Given the description of an element on the screen output the (x, y) to click on. 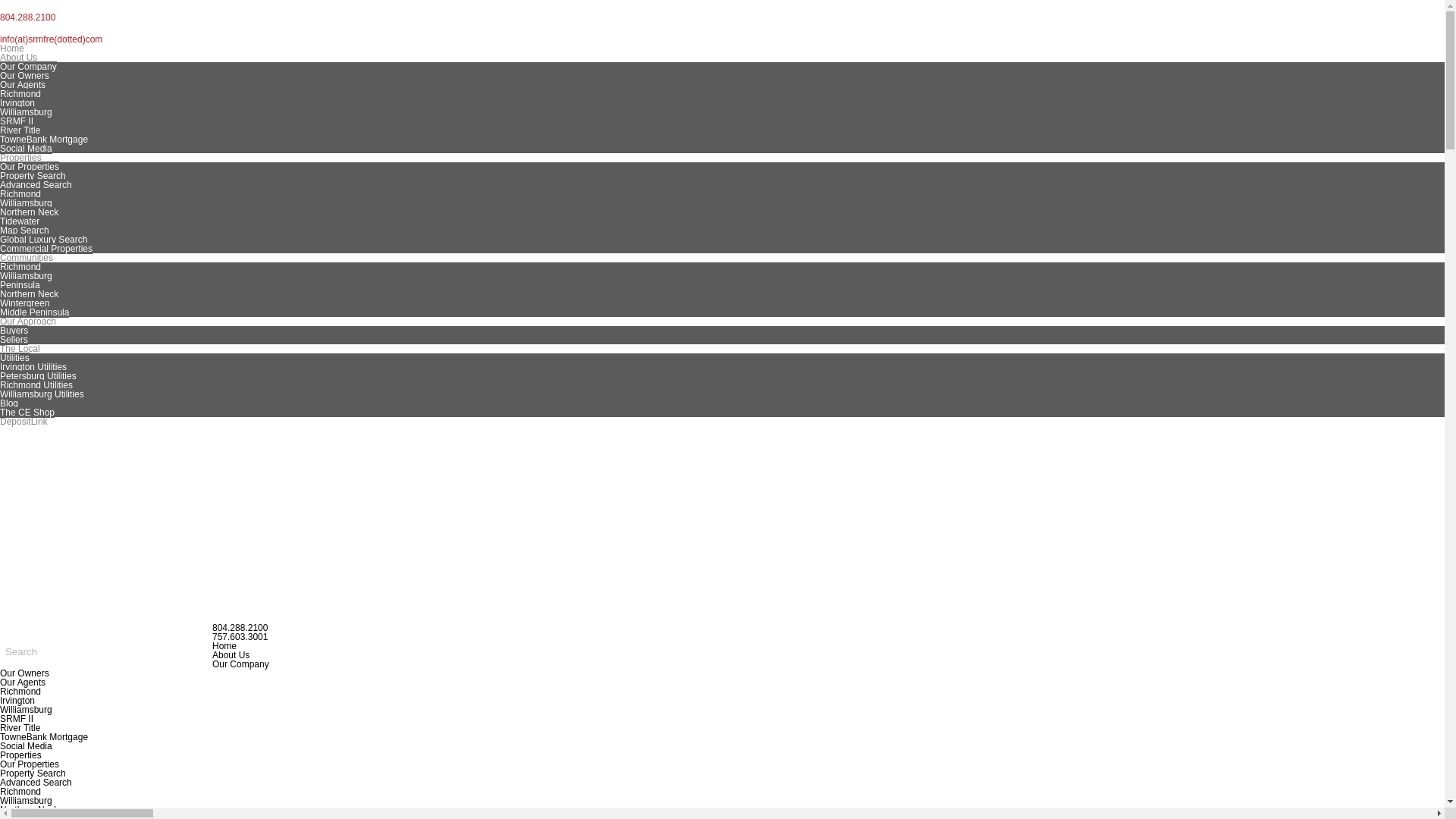
804.288.2100 (722, 17)
River Title (20, 130)
Our Owners (24, 75)
Petersburg Utilities (38, 376)
TowneBank Mortgage (43, 139)
Sellers (13, 339)
Our Agents (22, 84)
Richmond (20, 93)
Our Company (28, 66)
SRMF II (16, 121)
Williamsburg (26, 276)
Our Properties (29, 166)
Search (21, 651)
Wintergreen (24, 303)
Advanced Search (35, 184)
